Given the description of an element on the screen output the (x, y) to click on. 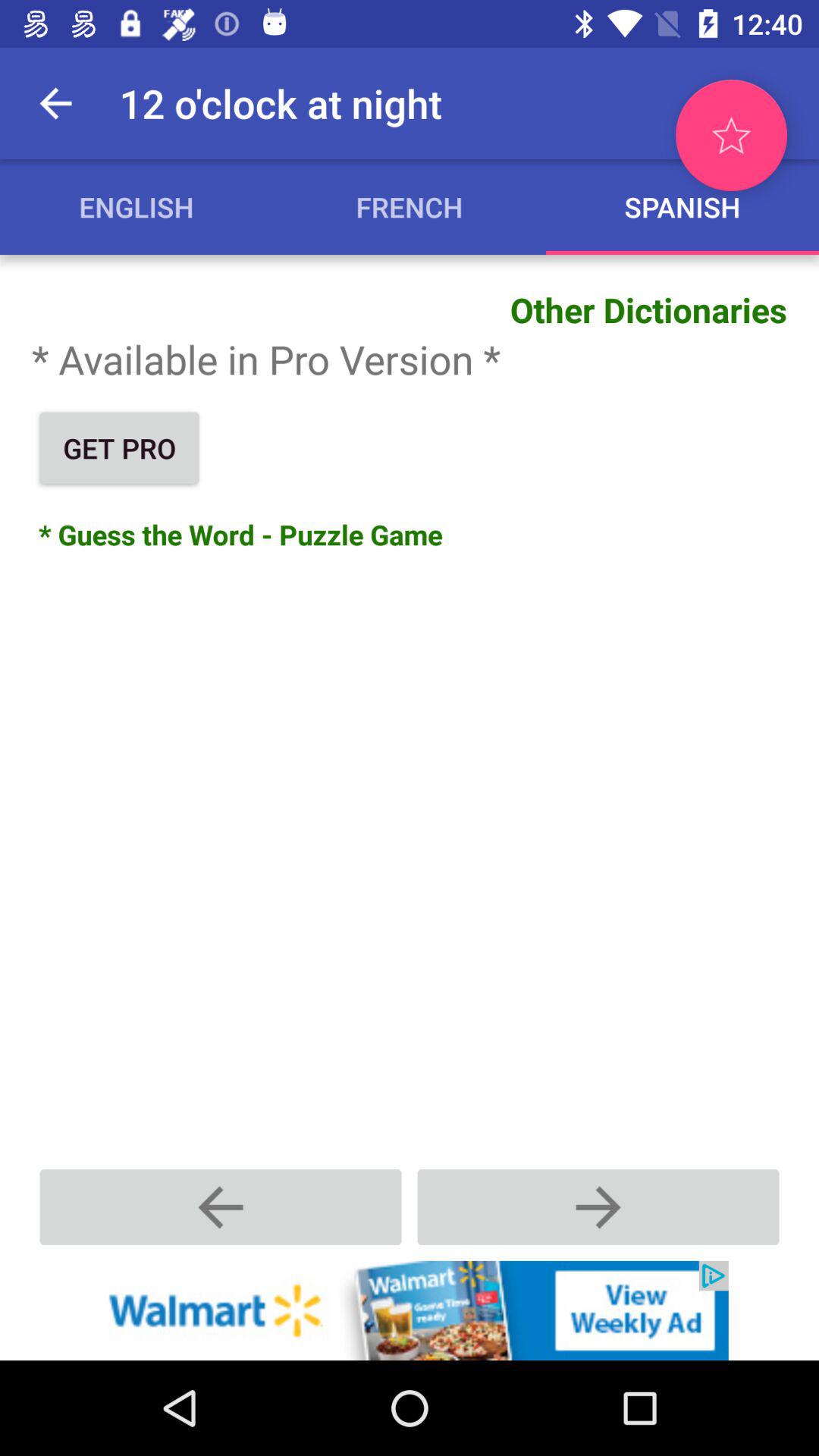
go back (220, 1206)
